Given the description of an element on the screen output the (x, y) to click on. 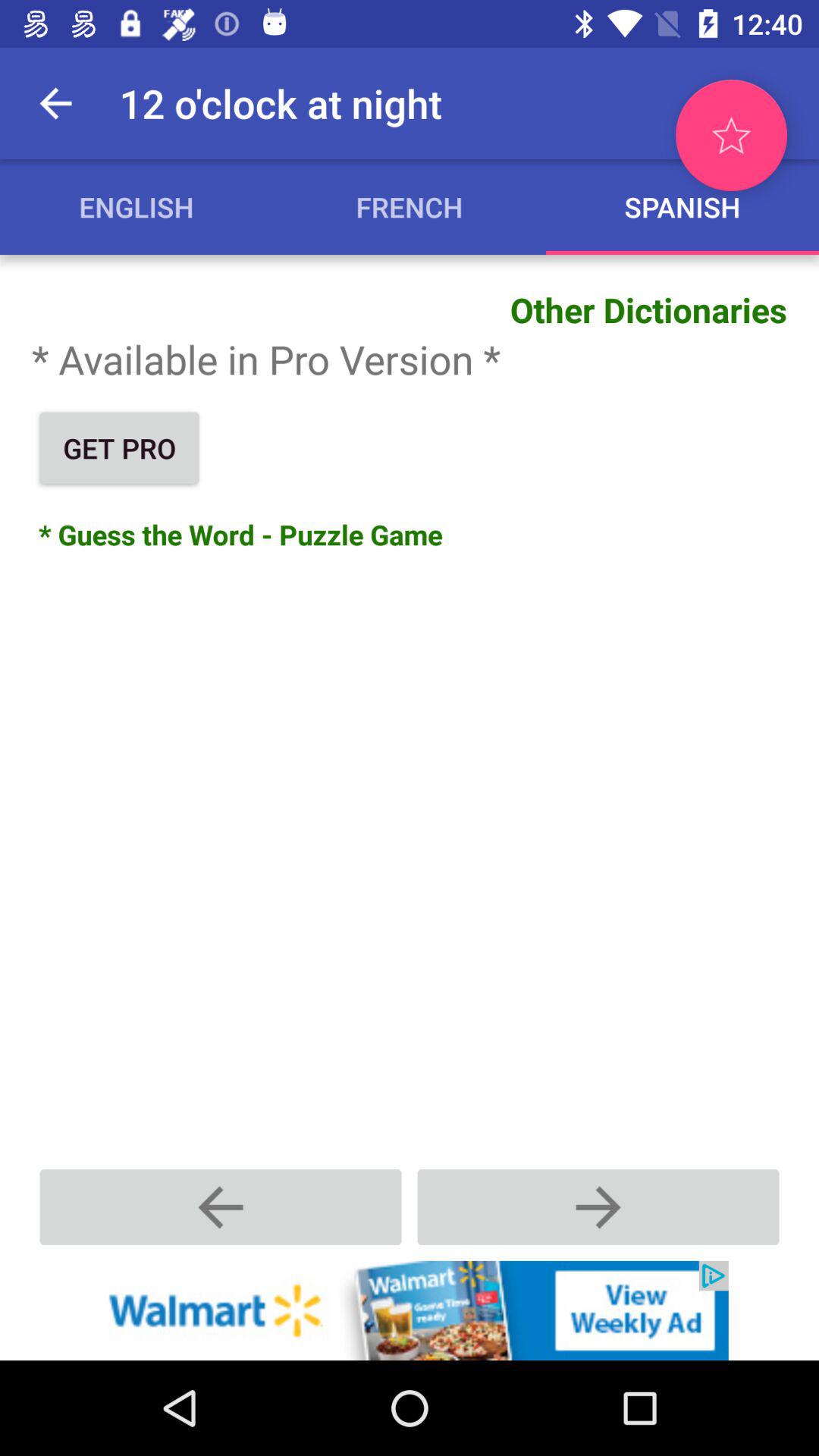
go back (220, 1206)
